Given the description of an element on the screen output the (x, y) to click on. 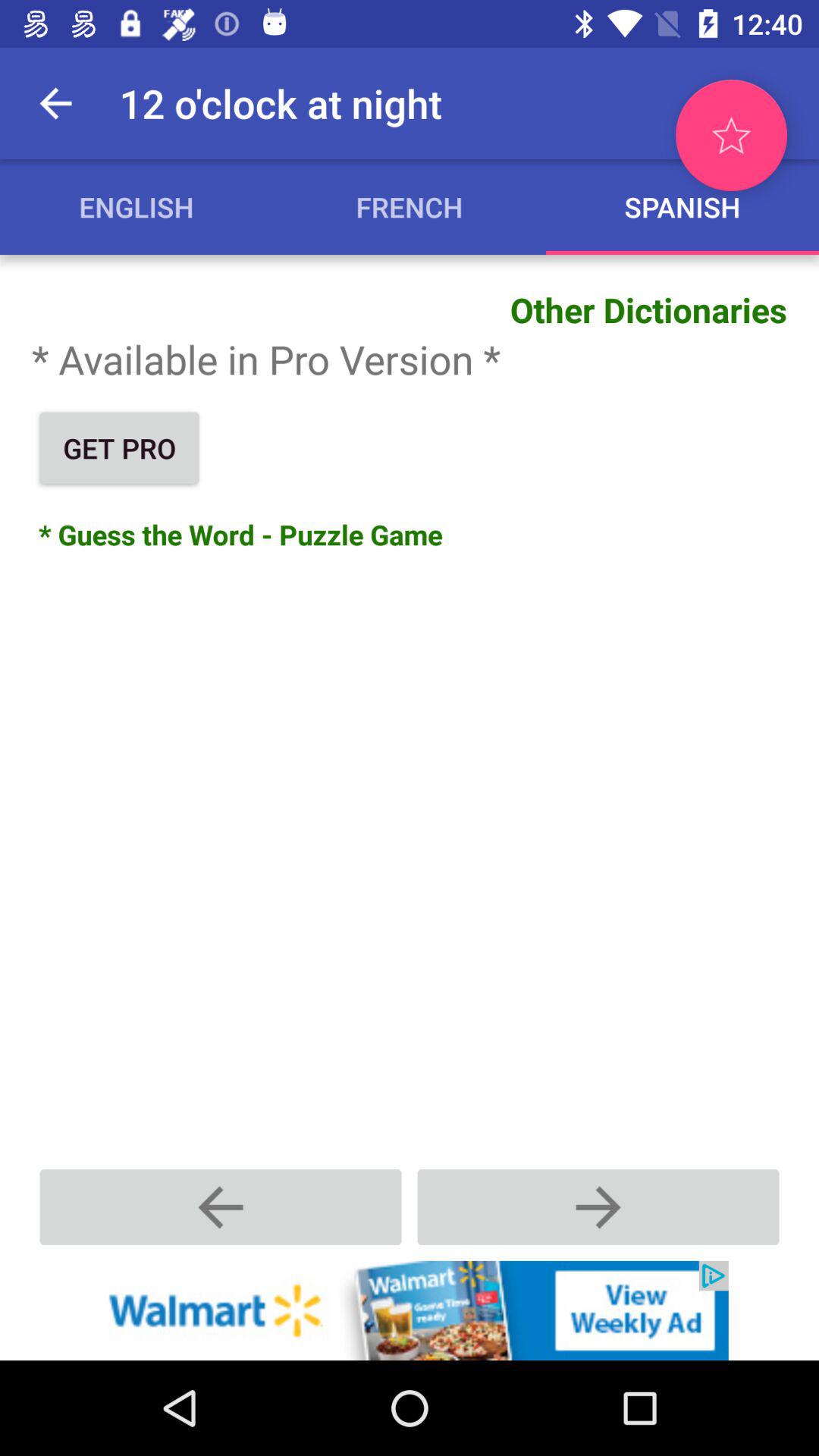
go back (220, 1206)
